Given the description of an element on the screen output the (x, y) to click on. 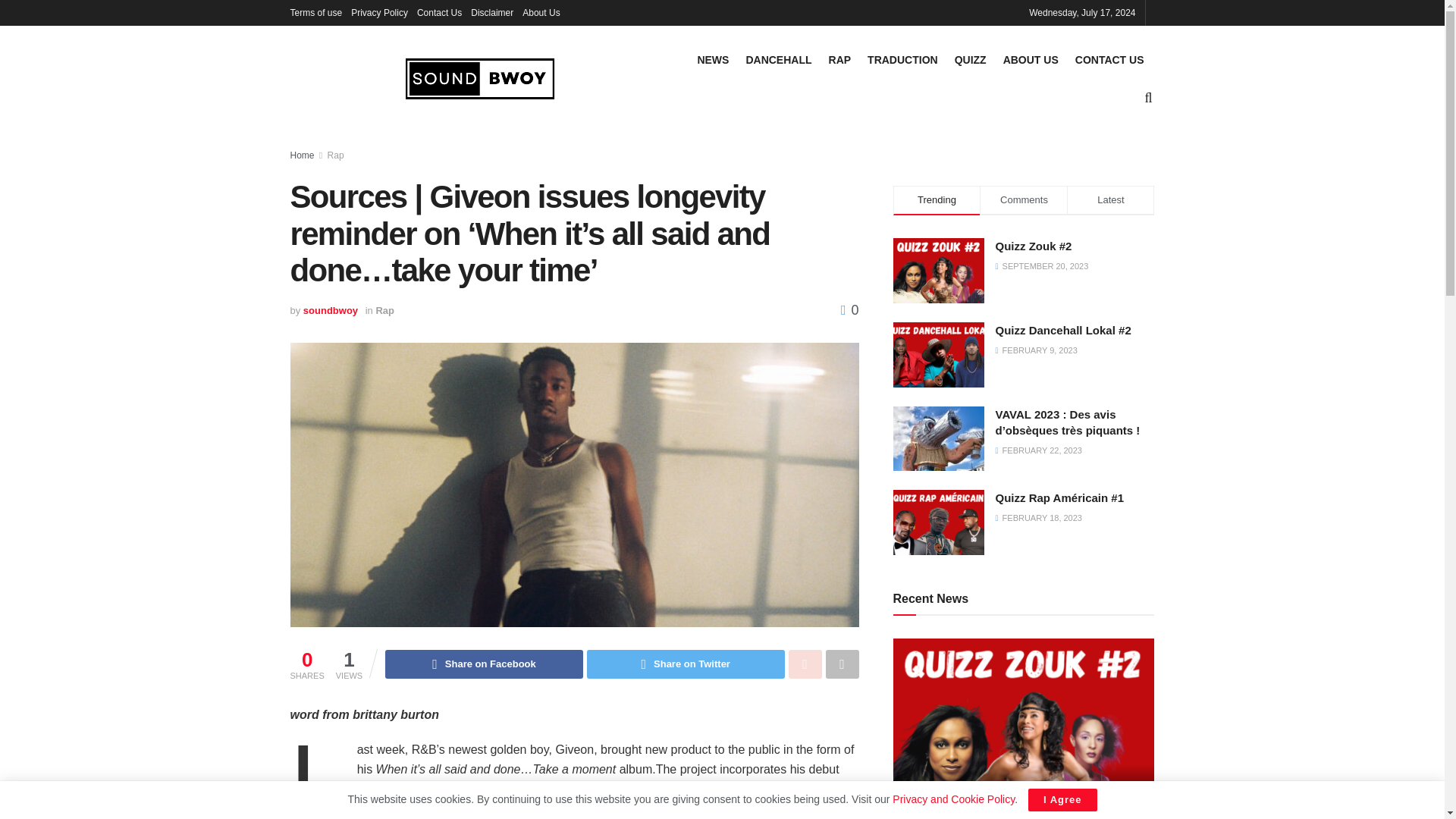
Contact Us (438, 12)
NEWS (713, 59)
TRADUCTION (902, 59)
Disclaimer (491, 12)
Terms of use (315, 12)
soundbwoy (330, 310)
Share on Twitter (685, 664)
Home (301, 154)
Rap (384, 310)
Share on Facebook (484, 664)
QUIZZ (971, 59)
About Us (540, 12)
Privacy Policy (378, 12)
RAP (839, 59)
0 (850, 309)
